Given the description of an element on the screen output the (x, y) to click on. 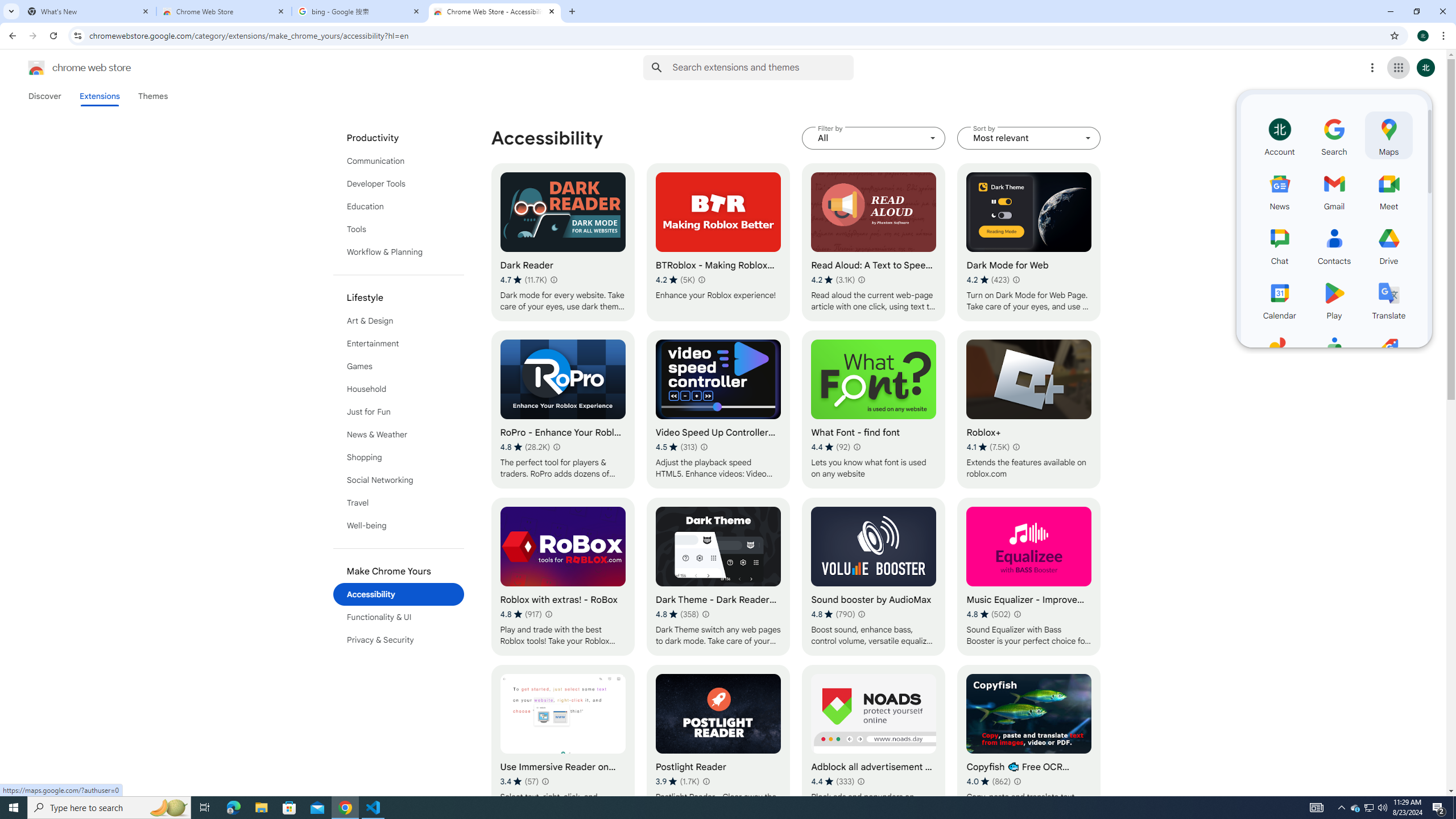
Learn more about results and reviews "What Font - find font" (856, 446)
What Font - find font (874, 409)
Average rating 4.5 out of 5 stars. 313 ratings. (676, 446)
Extensions (99, 95)
Read Aloud: A Text to Speech Voice Reader (874, 241)
